Given the description of an element on the screen output the (x, y) to click on. 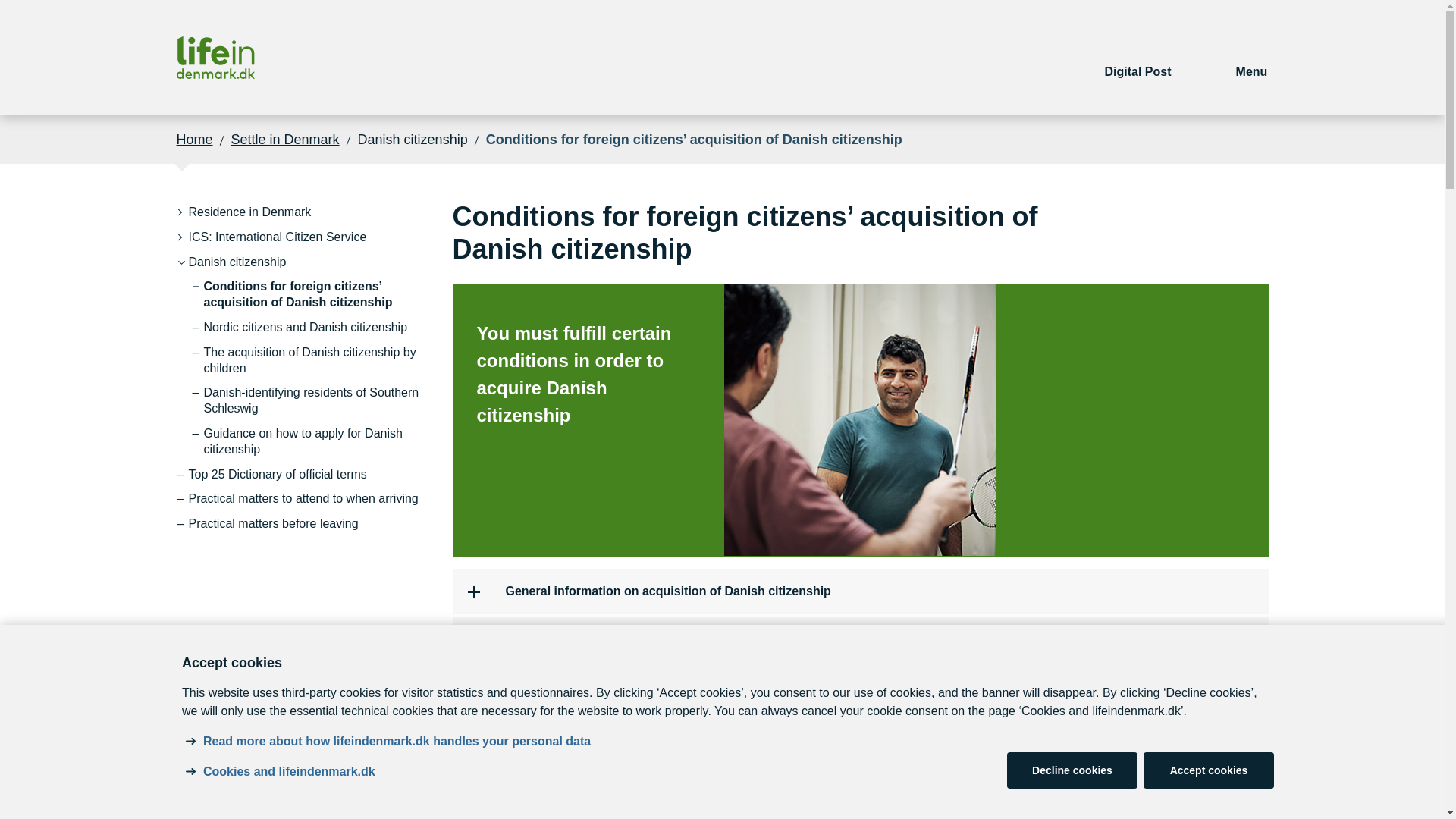
Menu (1251, 57)
Digital Post (1138, 57)
Accept cookies (1208, 770)
Your e-mail (1138, 57)
lifeindenmark.dk (215, 57)
Home (194, 139)
Settle in Denmark (285, 139)
Residence in Denmark (249, 212)
Cookies and lifeindenmark.dk (289, 771)
ICS: International Citizen Service (277, 237)
Decline cookies (1072, 770)
